Given the description of an element on the screen output the (x, y) to click on. 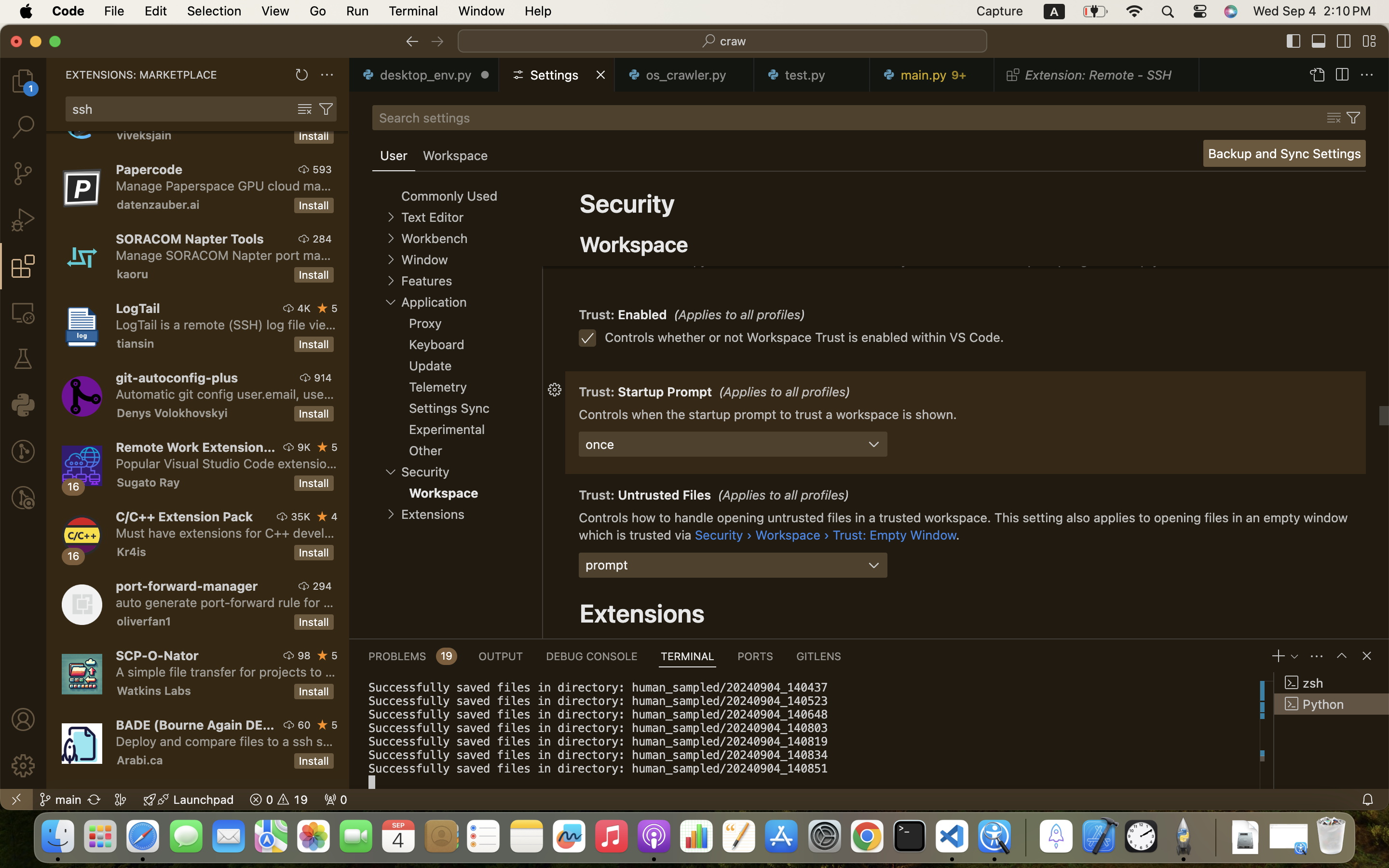
0 PROBLEMS 19 Element type: AXRadioButton (411, 655)
914 Element type: AXStaticText (322, 377)
0.4285714328289032 Element type: AXDockItem (1024, 836)
Remote Work Extension Pack Element type: AXStaticText (195, 446)
zsh  Element type: AXGroup (1331, 682)
